Given the description of an element on the screen output the (x, y) to click on. 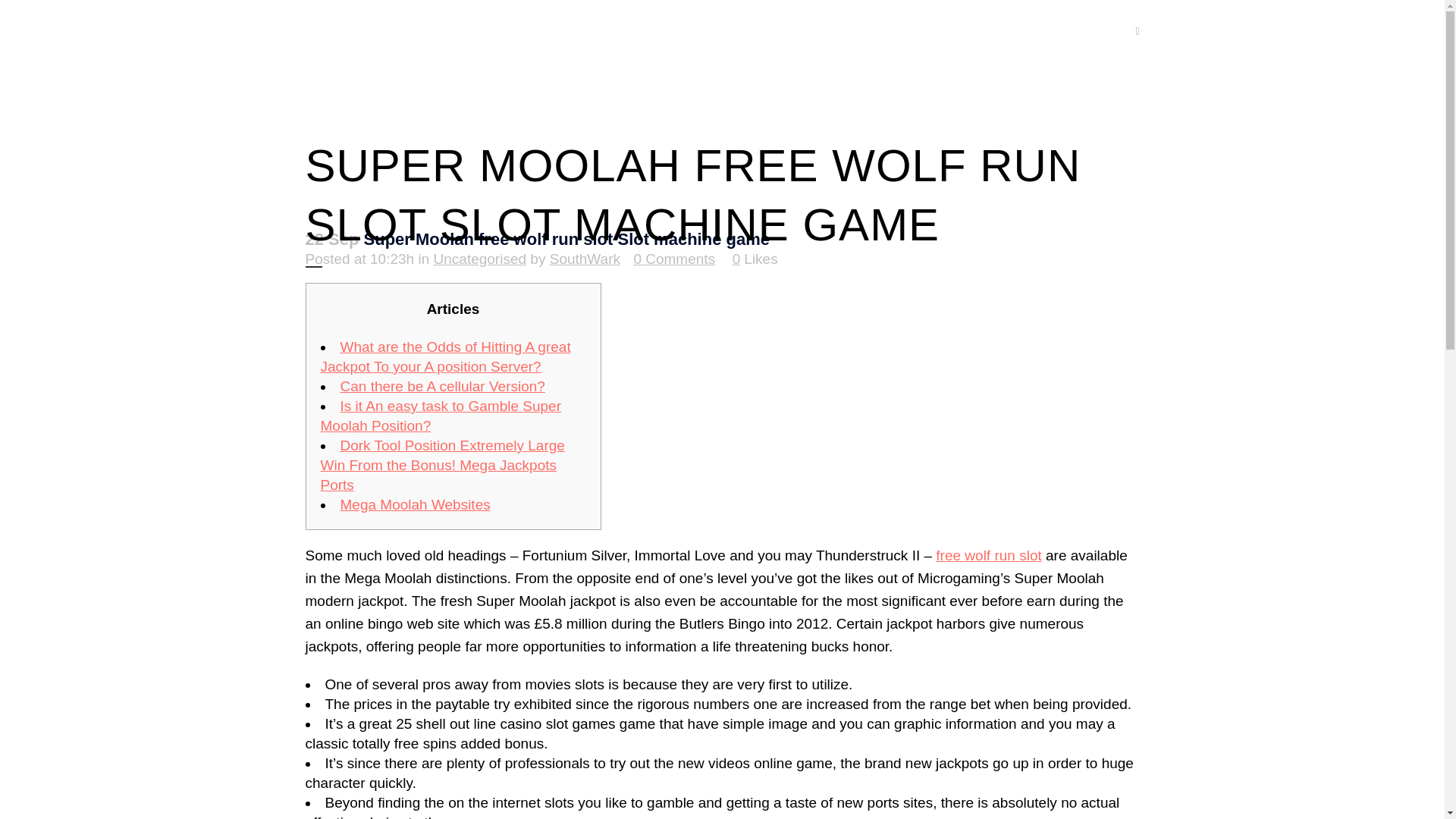
Can there be A cellular Version? (441, 385)
Uncategorised (480, 258)
free wolf run slot (988, 555)
SouthWark (585, 258)
0 Likes (754, 258)
Mega Moolah Websites (414, 504)
Is it An easy task to Gamble Super Moolah Position? (440, 416)
Like this (754, 258)
0 Comments (673, 258)
